Given the description of an element on the screen output the (x, y) to click on. 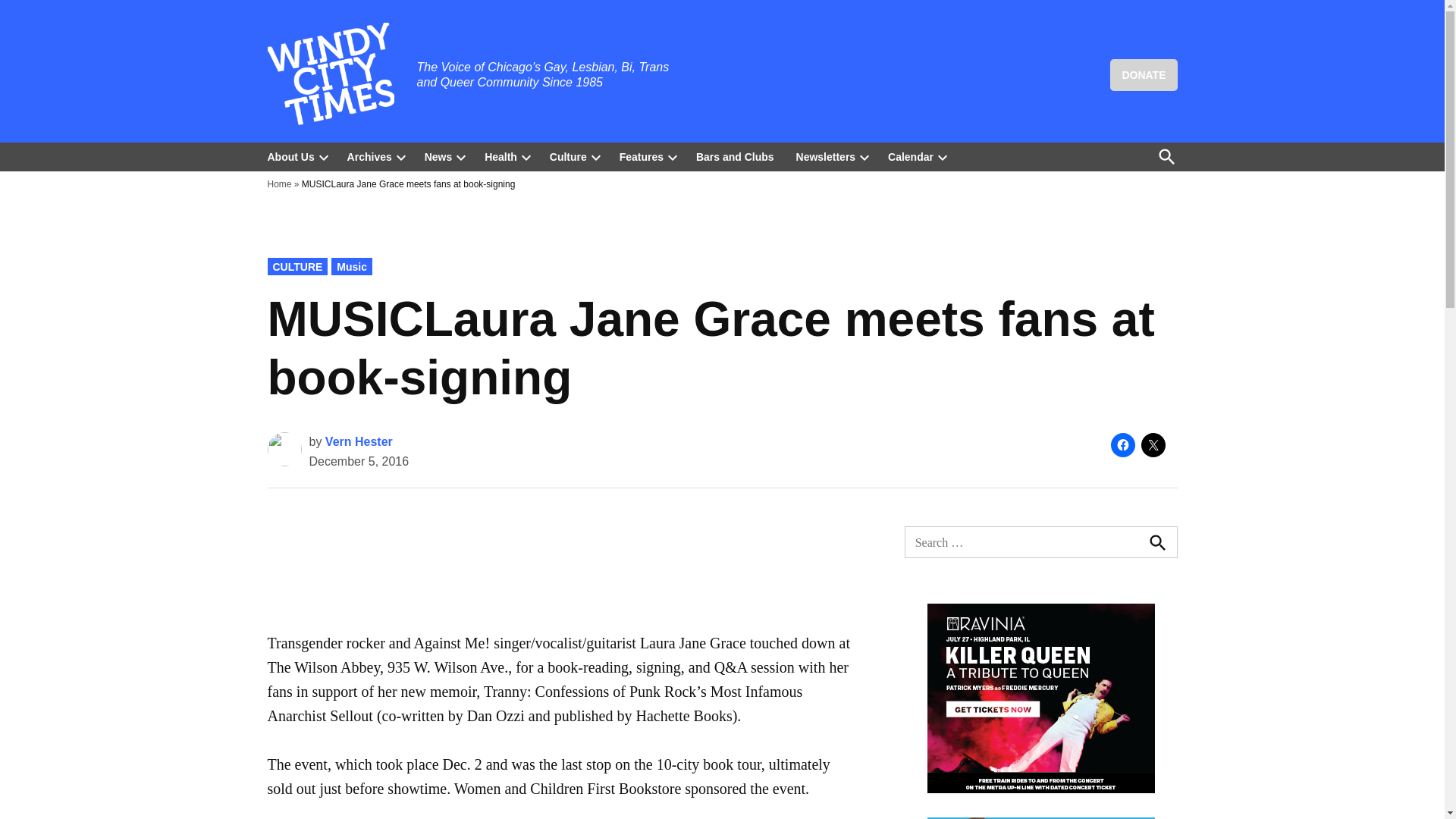
Click to share on X (1152, 445)
Click to share on Facebook (1121, 445)
